Given the description of an element on the screen output the (x, y) to click on. 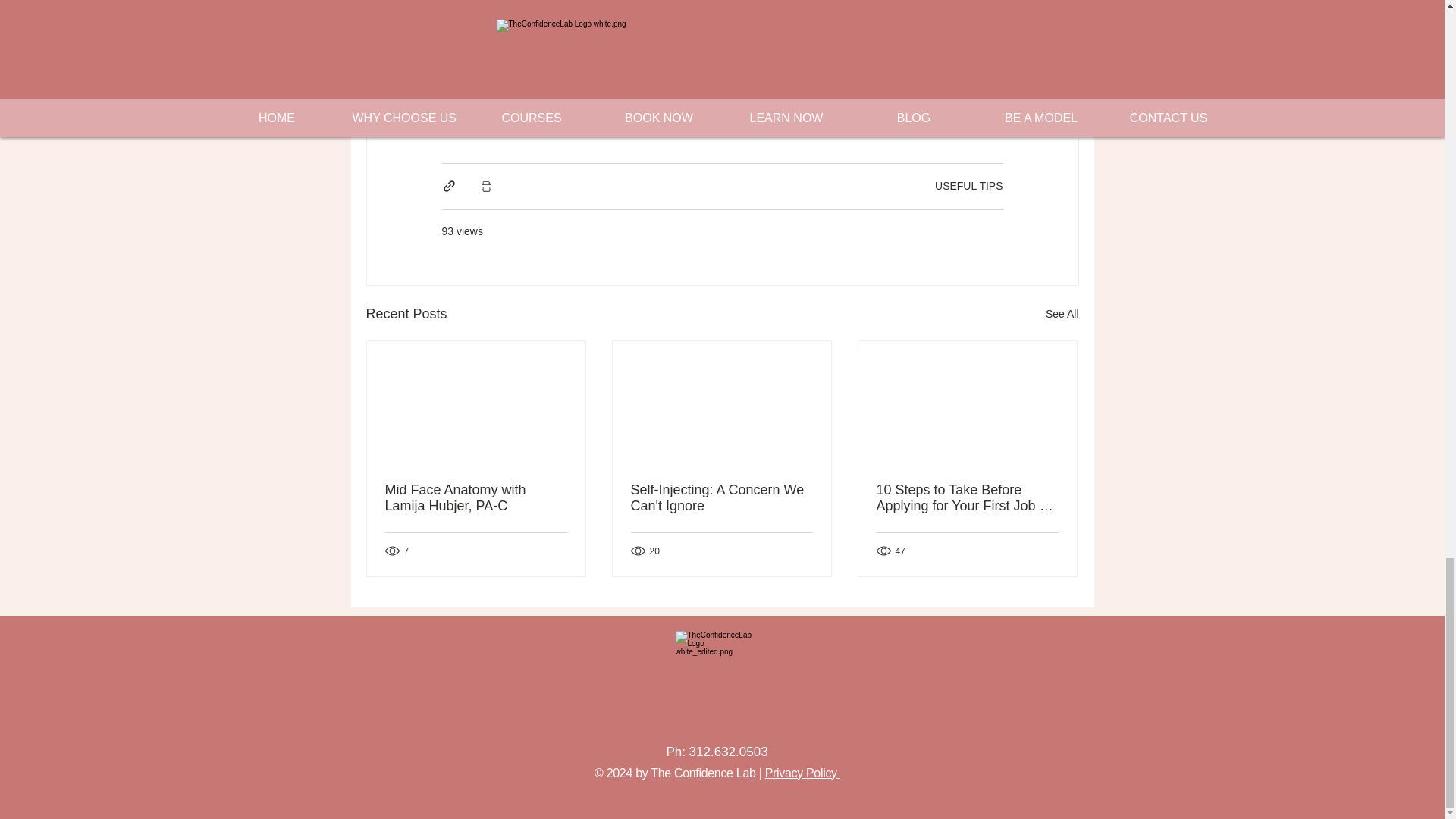
Ph: 312.632.0503 (716, 752)
Privacy Policy  (802, 772)
See All (1061, 314)
Mid Face Anatomy with Lamija Hubjer, PA-C (476, 498)
Self-Injecting: A Concern We Can't Ignore (721, 498)
USEFUL TIPS (968, 185)
